Given the description of an element on the screen output the (x, y) to click on. 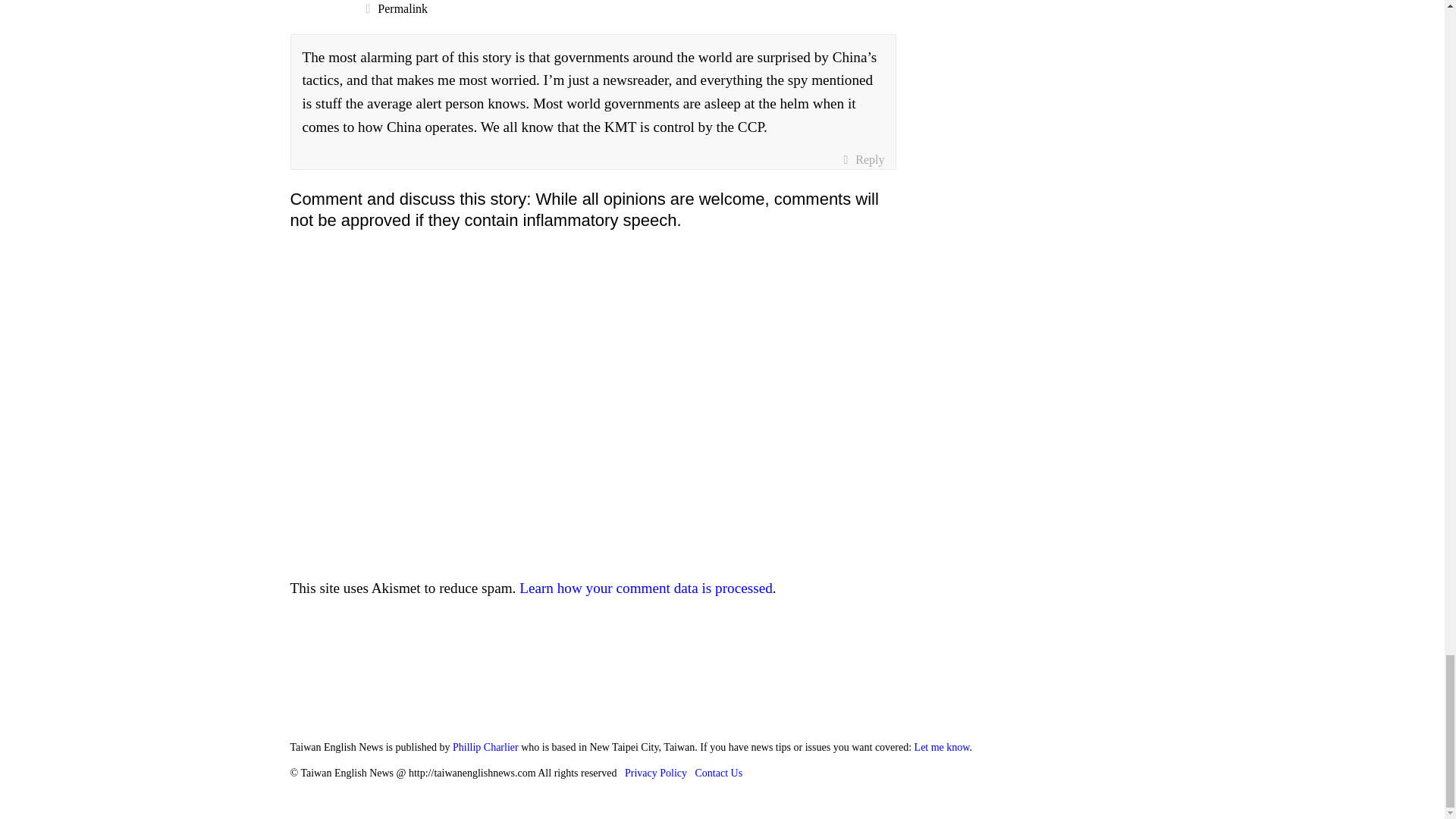
Permalink (630, 9)
Reply (863, 159)
Learn how your comment data is processed (646, 587)
